Given the description of an element on the screen output the (x, y) to click on. 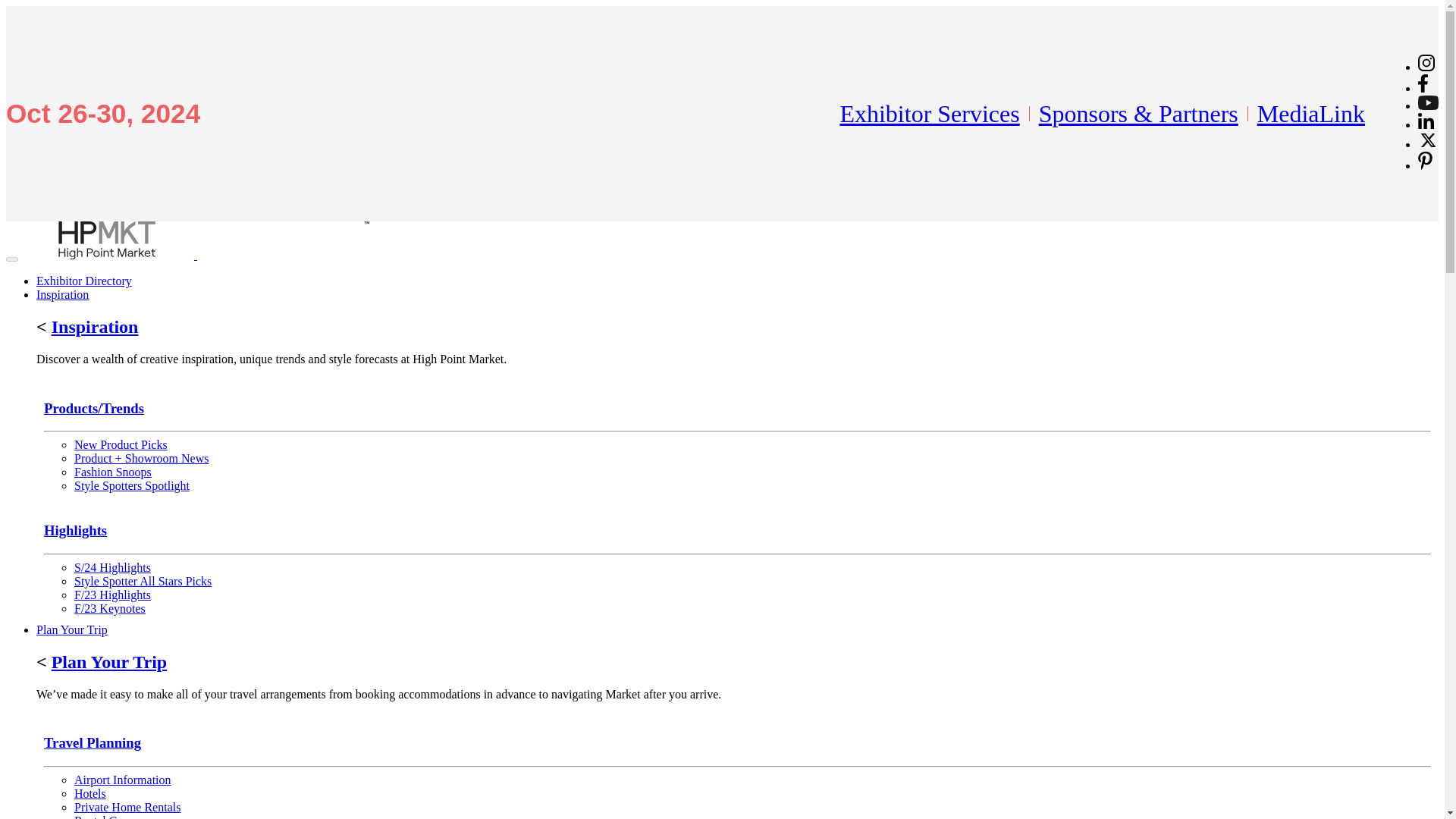
Inspiration (62, 294)
Travel Planning (92, 742)
Inspiration (94, 326)
Fashion Snoops (112, 472)
New Product Picks (120, 444)
Exhibitor Directory (84, 280)
Style Spotter All Stars Picks (142, 581)
Exhibitor Directory (84, 280)
MediaLink (1311, 113)
